Given the description of an element on the screen output the (x, y) to click on. 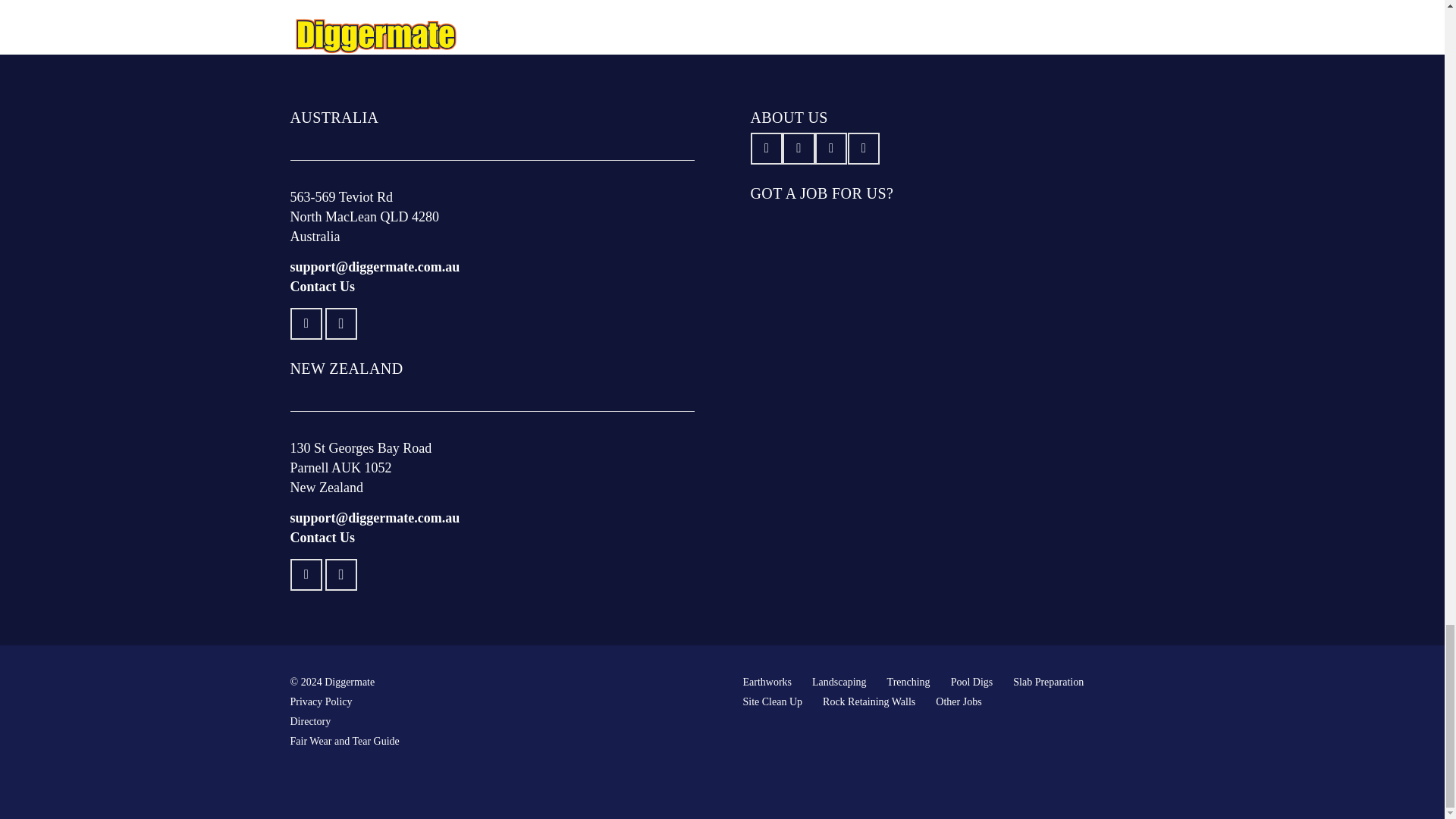
Facebook (305, 323)
